Given the description of an element on the screen output the (x, y) to click on. 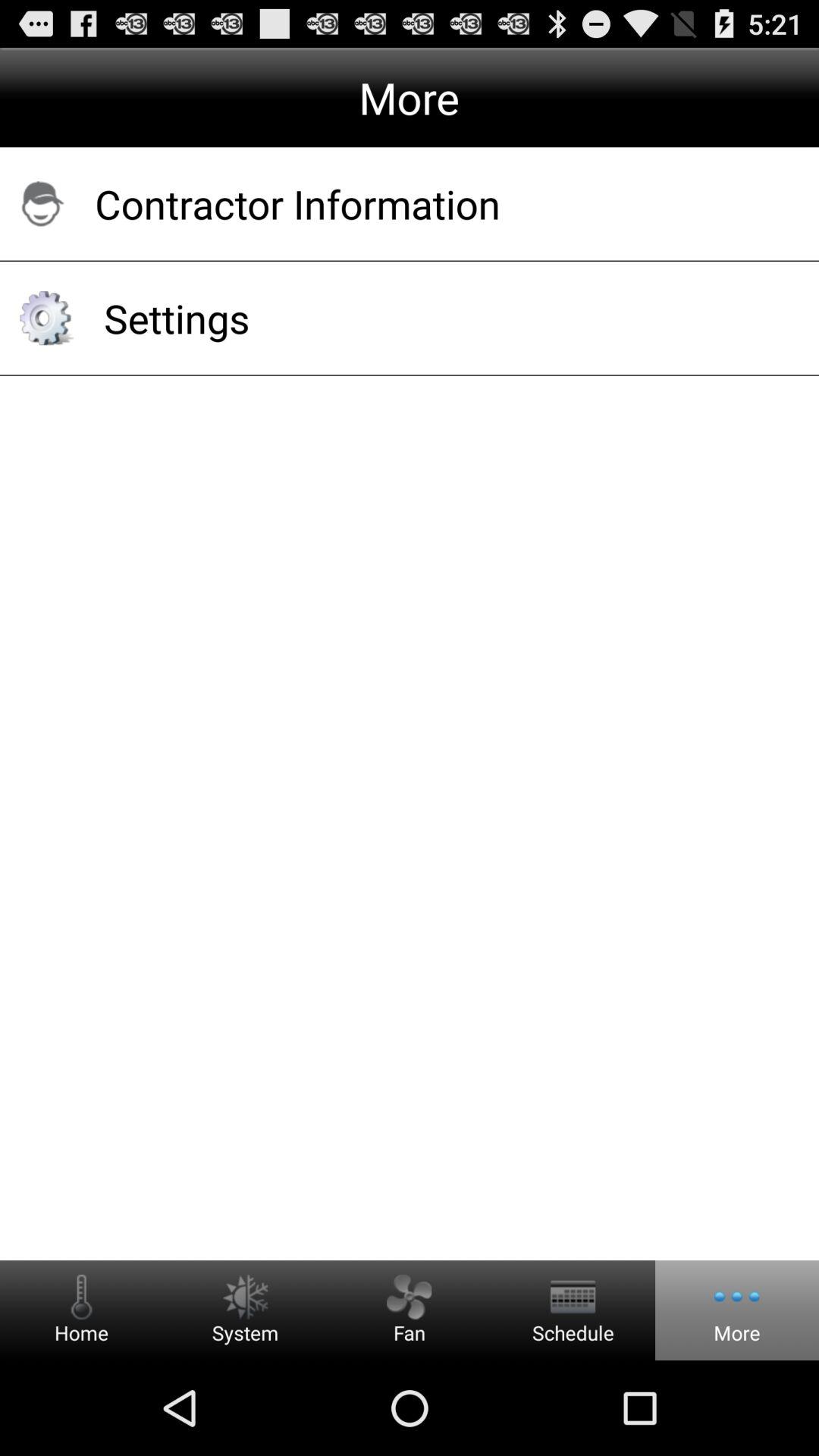
scroll until the contractor information app (437, 203)
